Given the description of an element on the screen output the (x, y) to click on. 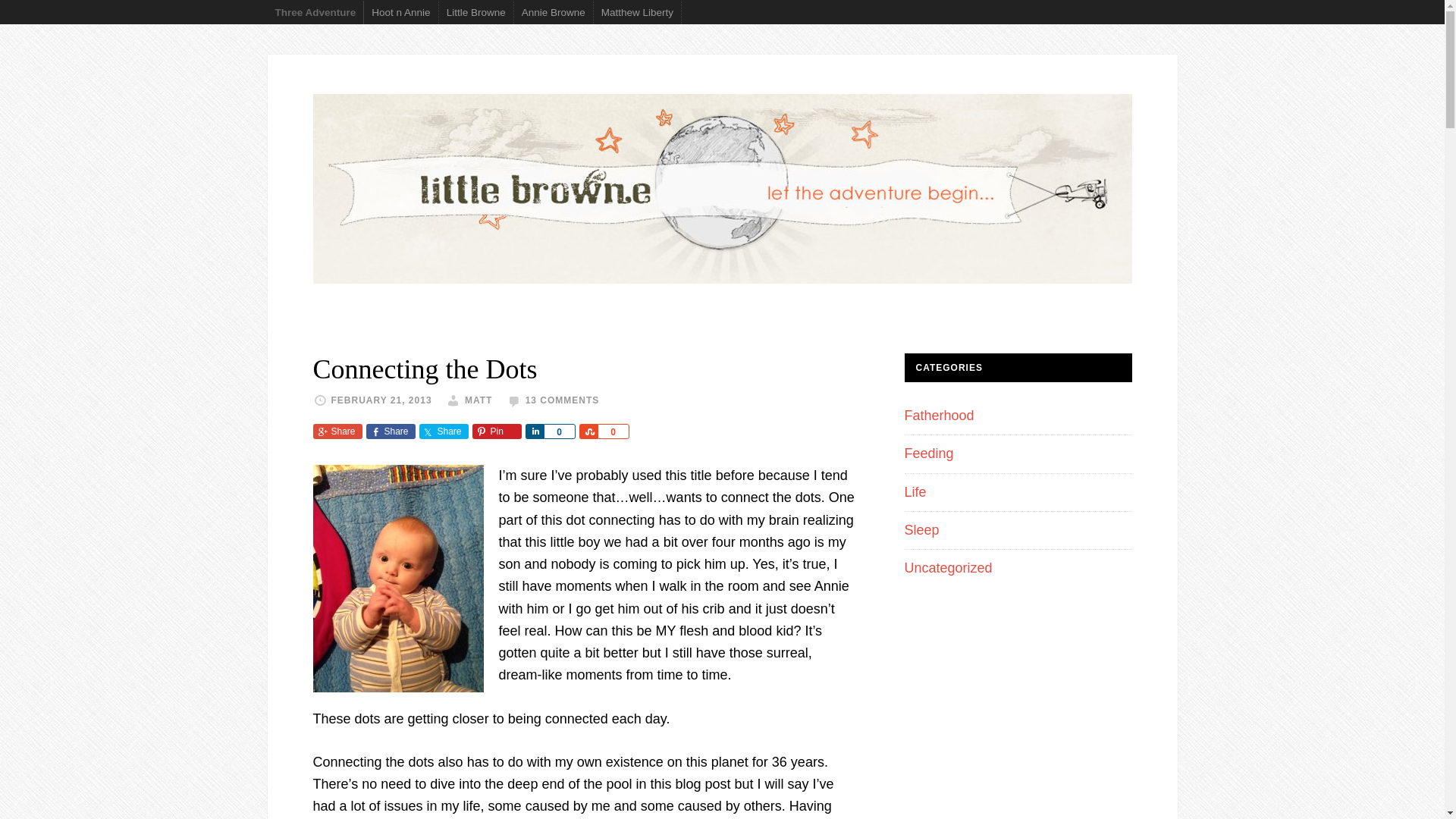
Little Browne (476, 12)
Hoot n Annie (401, 12)
Share (533, 431)
Annie Browne (553, 12)
0 (559, 431)
13 COMMENTS (562, 399)
Three Adventure (315, 12)
Share (587, 431)
Matthew Liberty (637, 12)
MATT (478, 399)
Share (389, 431)
Pin (496, 431)
Share (443, 431)
Share (337, 431)
